Given the description of an element on the screen output the (x, y) to click on. 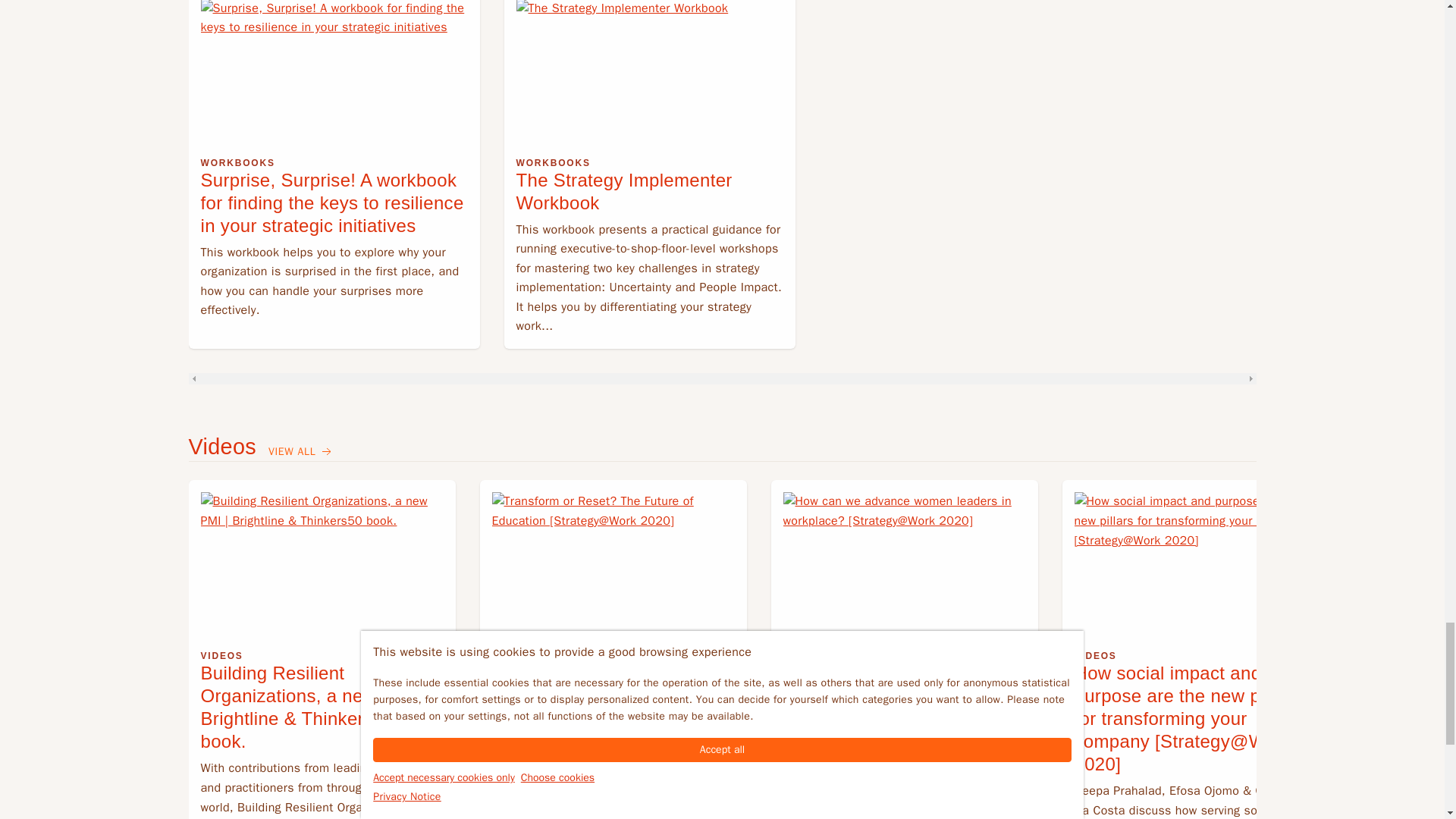
View all Videos (300, 452)
